Given the description of an element on the screen output the (x, y) to click on. 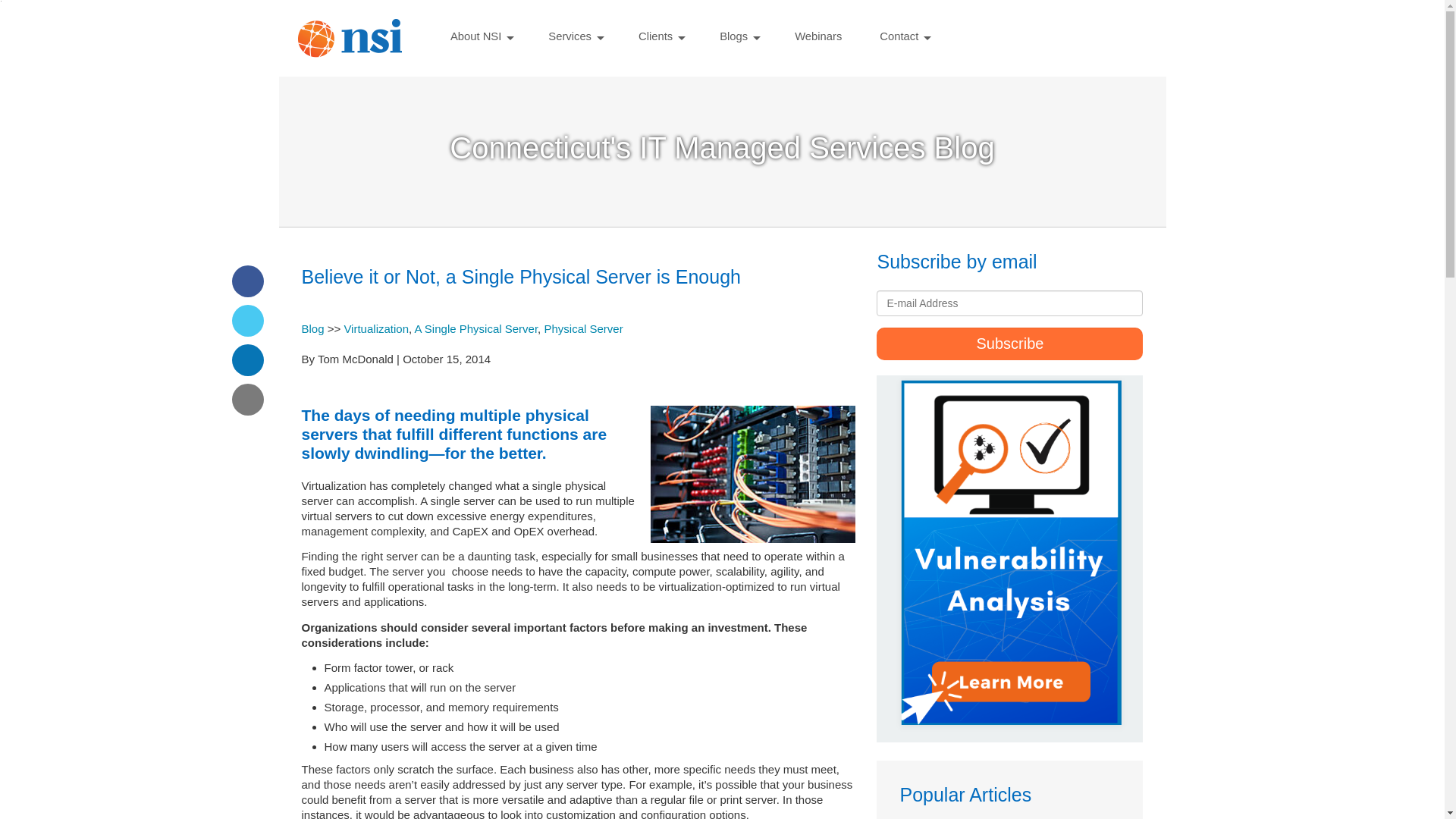
linkedin (247, 359)
Blog (312, 328)
Physical Server (583, 328)
Clients (659, 35)
A Single Physical Server (476, 328)
Webinars (818, 35)
email (247, 399)
About NSI (480, 35)
Subscribe (1009, 343)
Blogs (737, 35)
logo-new (349, 37)
Contact (903, 35)
Services (574, 35)
twitter (247, 320)
facebook (247, 281)
